Given the description of an element on the screen output the (x, y) to click on. 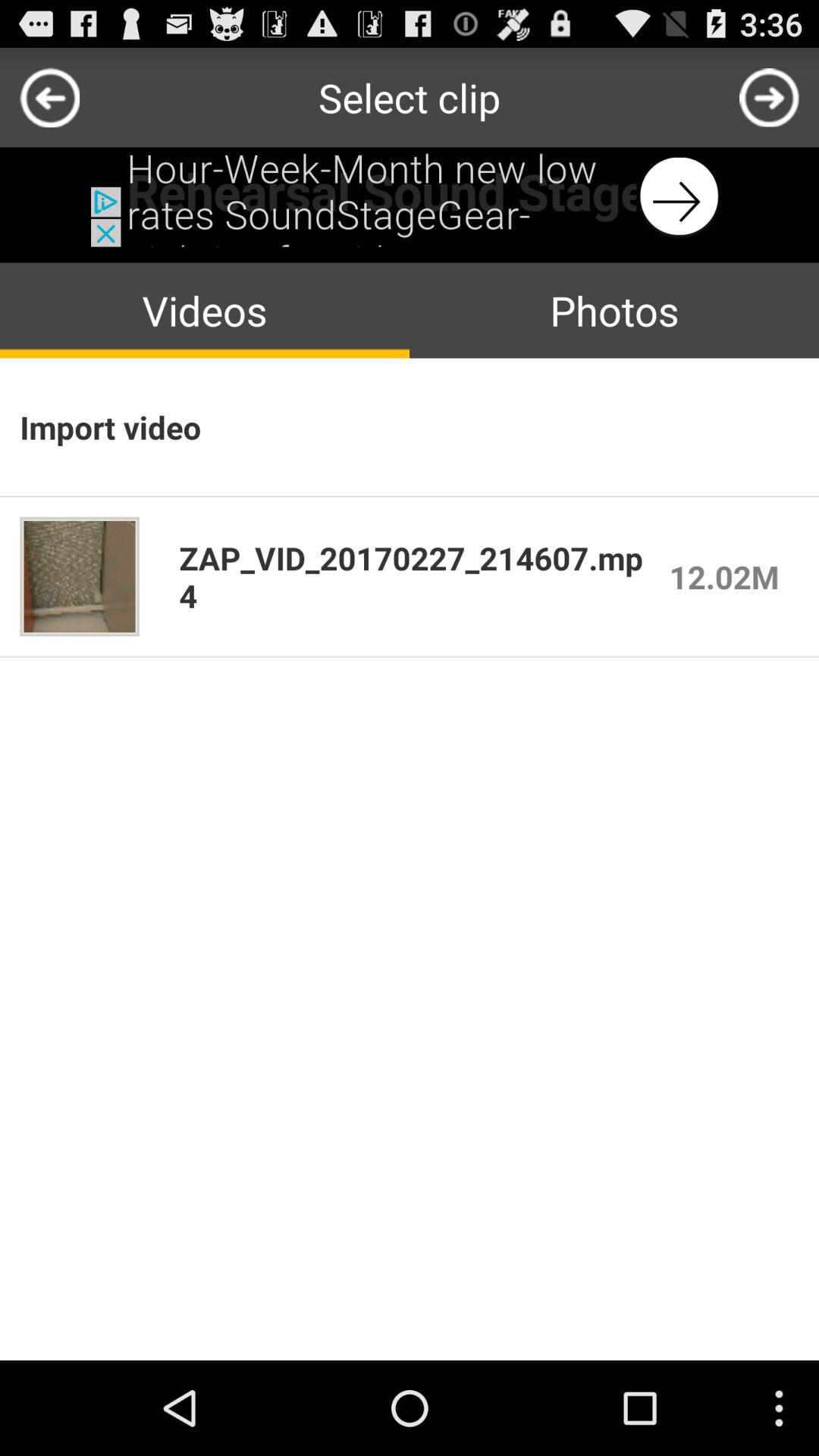
find more (769, 97)
